Given the description of an element on the screen output the (x, y) to click on. 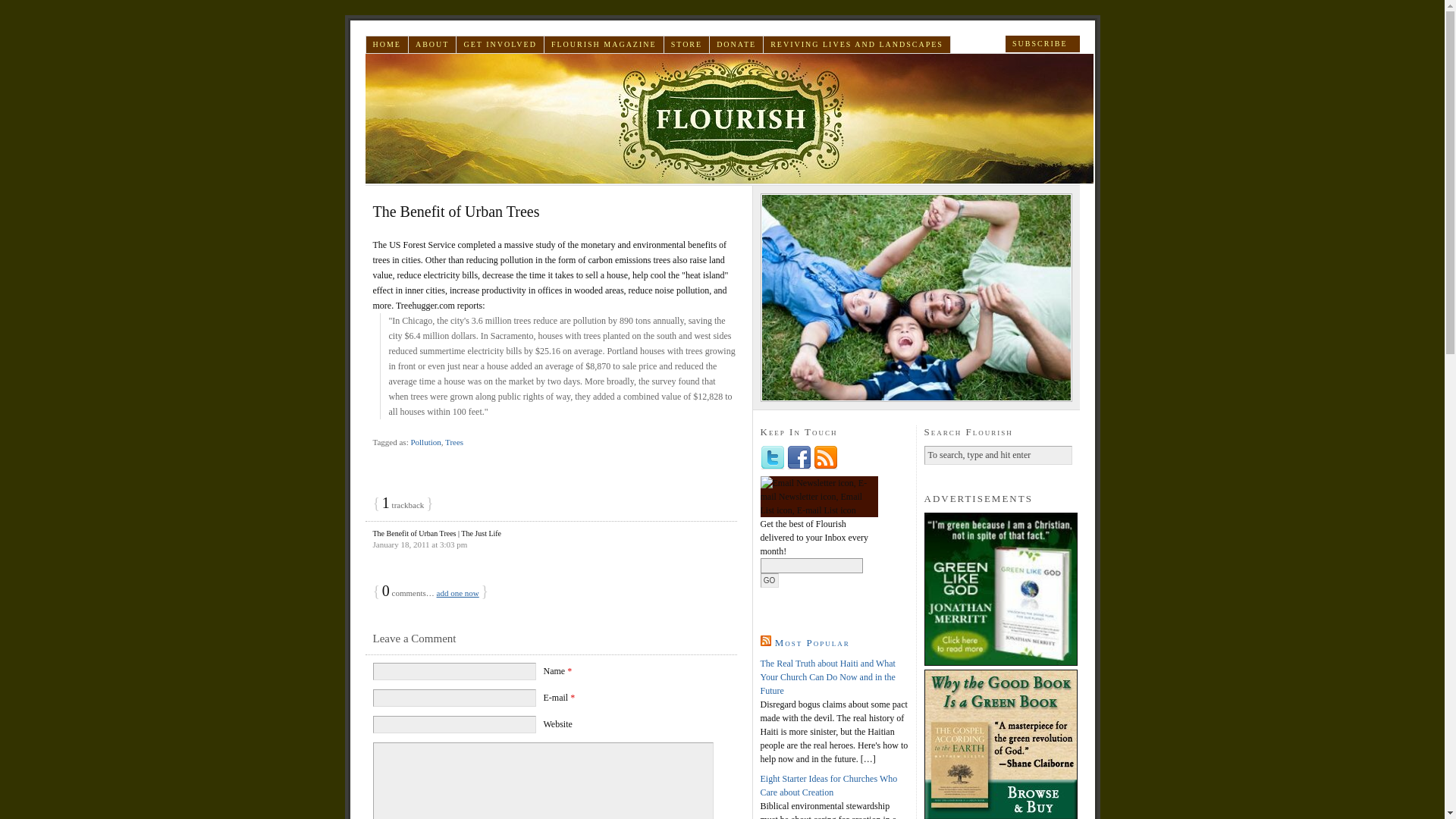
GO (768, 580)
About (432, 44)
Pollution (425, 441)
Get Involved (500, 44)
STORE (686, 44)
DONATE (736, 44)
To search, type and hit enter (997, 455)
add one now (457, 592)
Flourish RSS Feed (1042, 44)
Trees (454, 441)
